Given the description of an element on the screen output the (x, y) to click on. 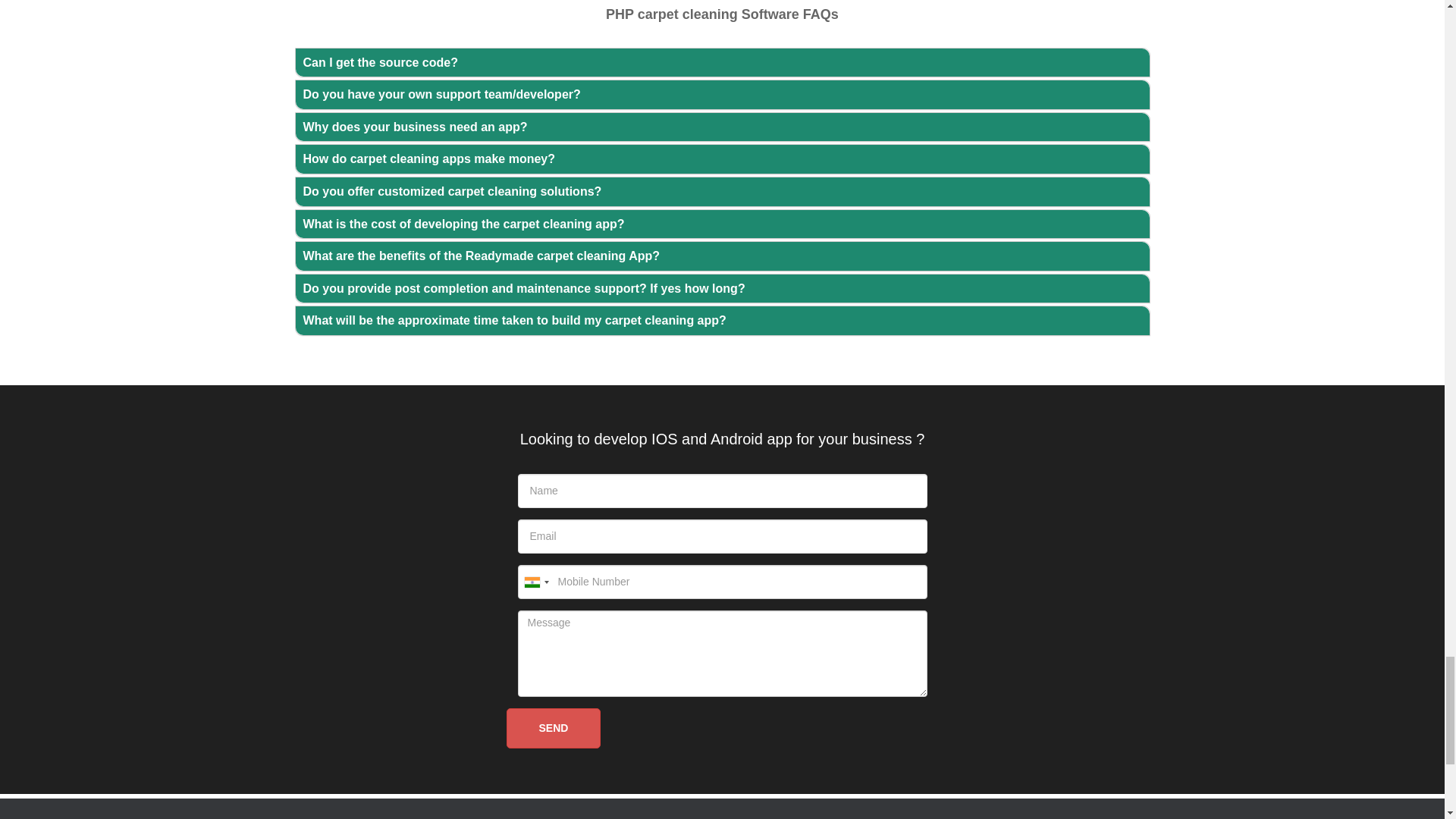
Send (553, 728)
